Given the description of an element on the screen output the (x, y) to click on. 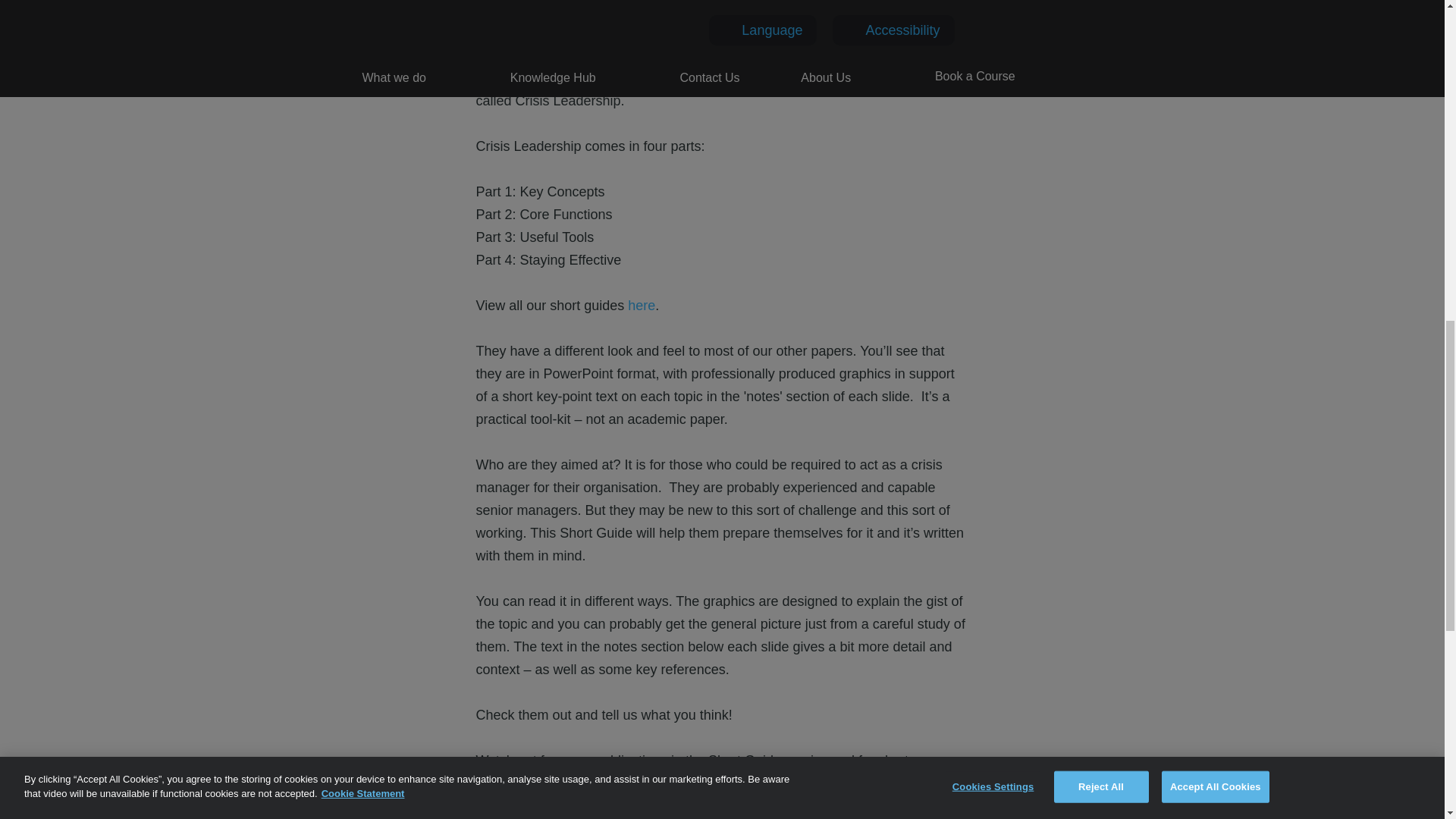
here (641, 305)
